Given the description of an element on the screen output the (x, y) to click on. 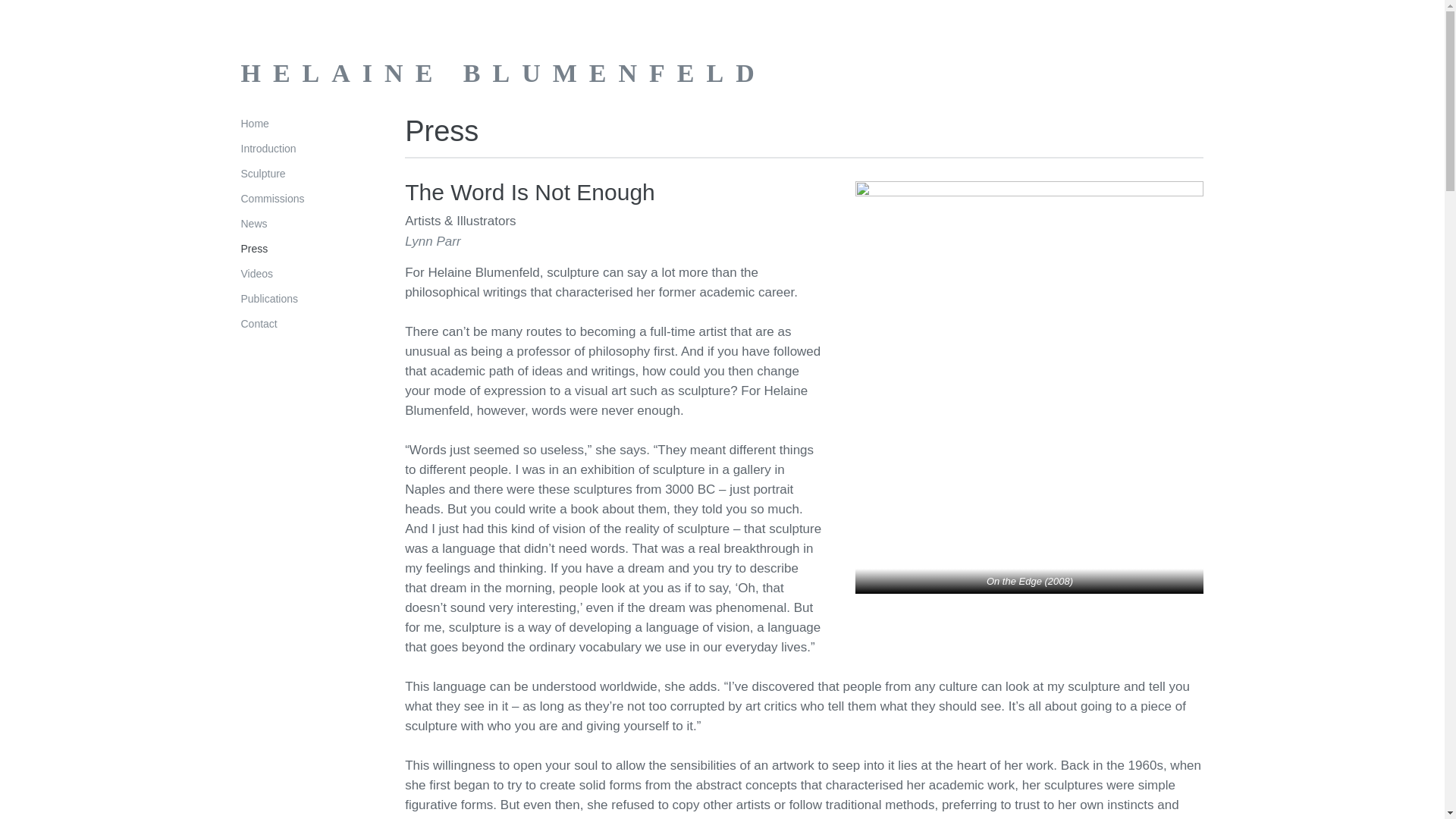
Videos (257, 273)
Commissions (272, 198)
Press (254, 248)
Sculpture (263, 173)
Introduction (269, 148)
Publications (269, 298)
News (254, 223)
Home (255, 123)
Contact (259, 323)
HELAINE BLUMENFELD (504, 72)
